Given the description of an element on the screen output the (x, y) to click on. 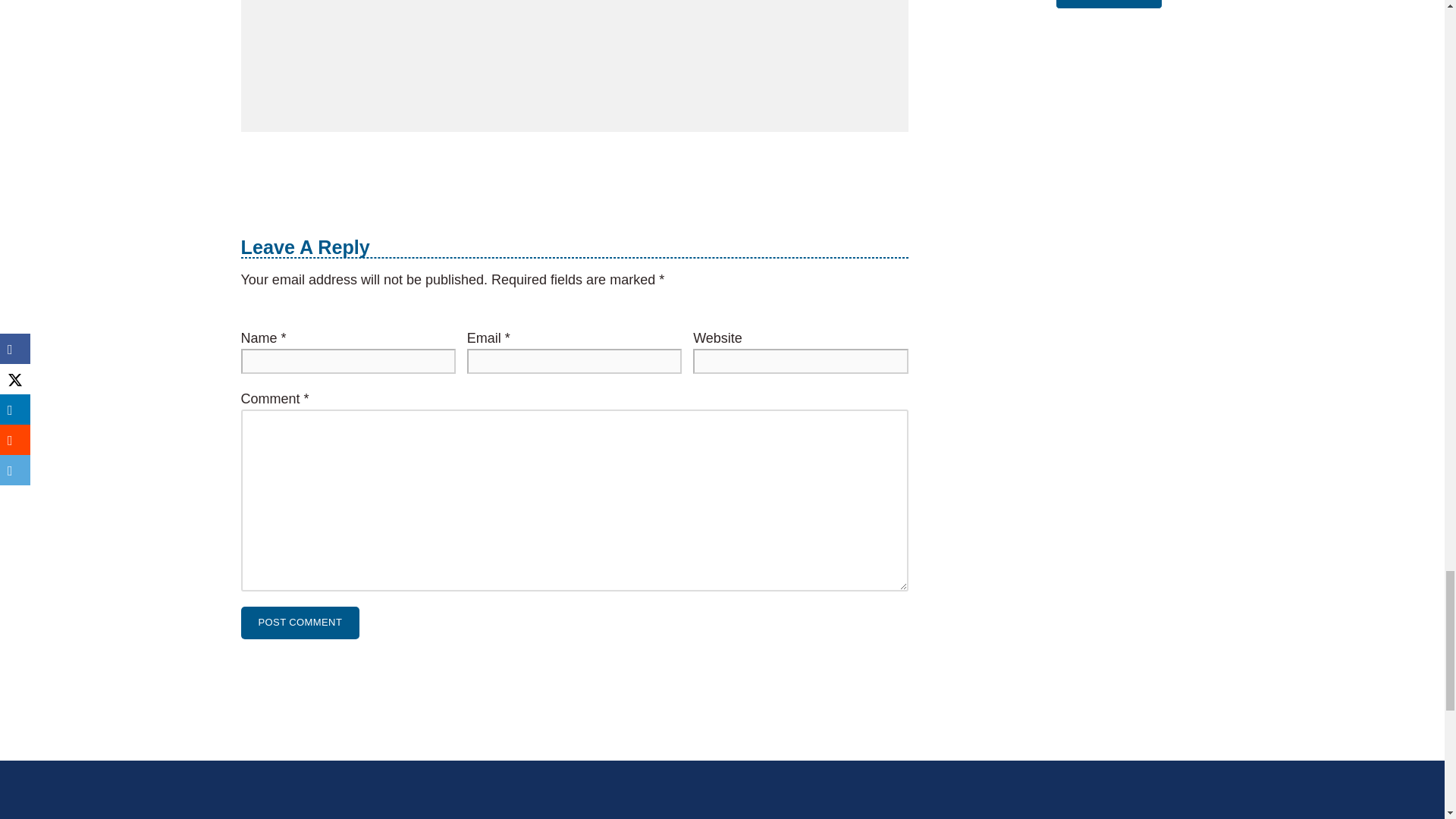
Post Comment (300, 622)
